Given the description of an element on the screen output the (x, y) to click on. 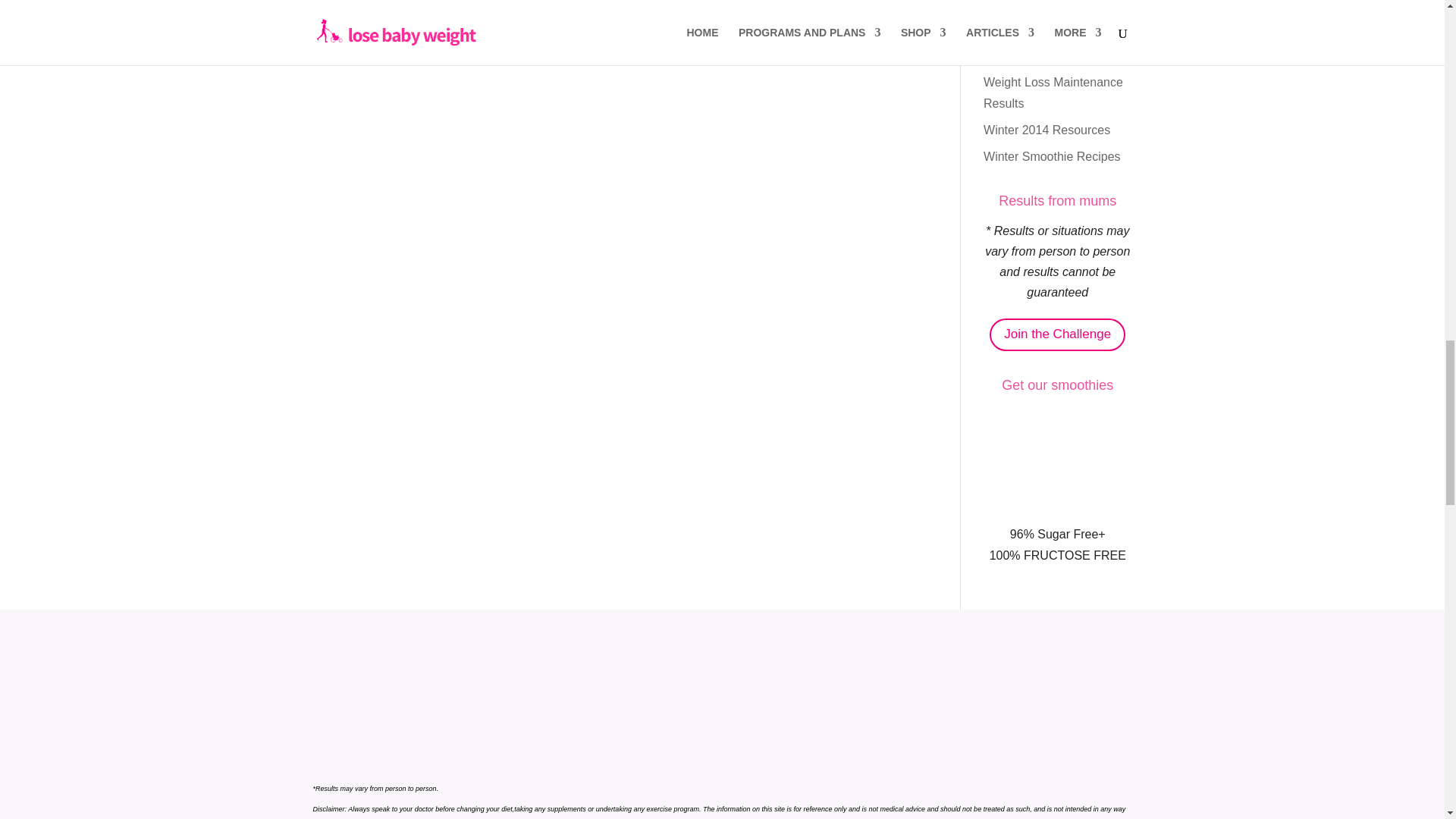
advertisement (1057, 460)
